Given the description of an element on the screen output the (x, y) to click on. 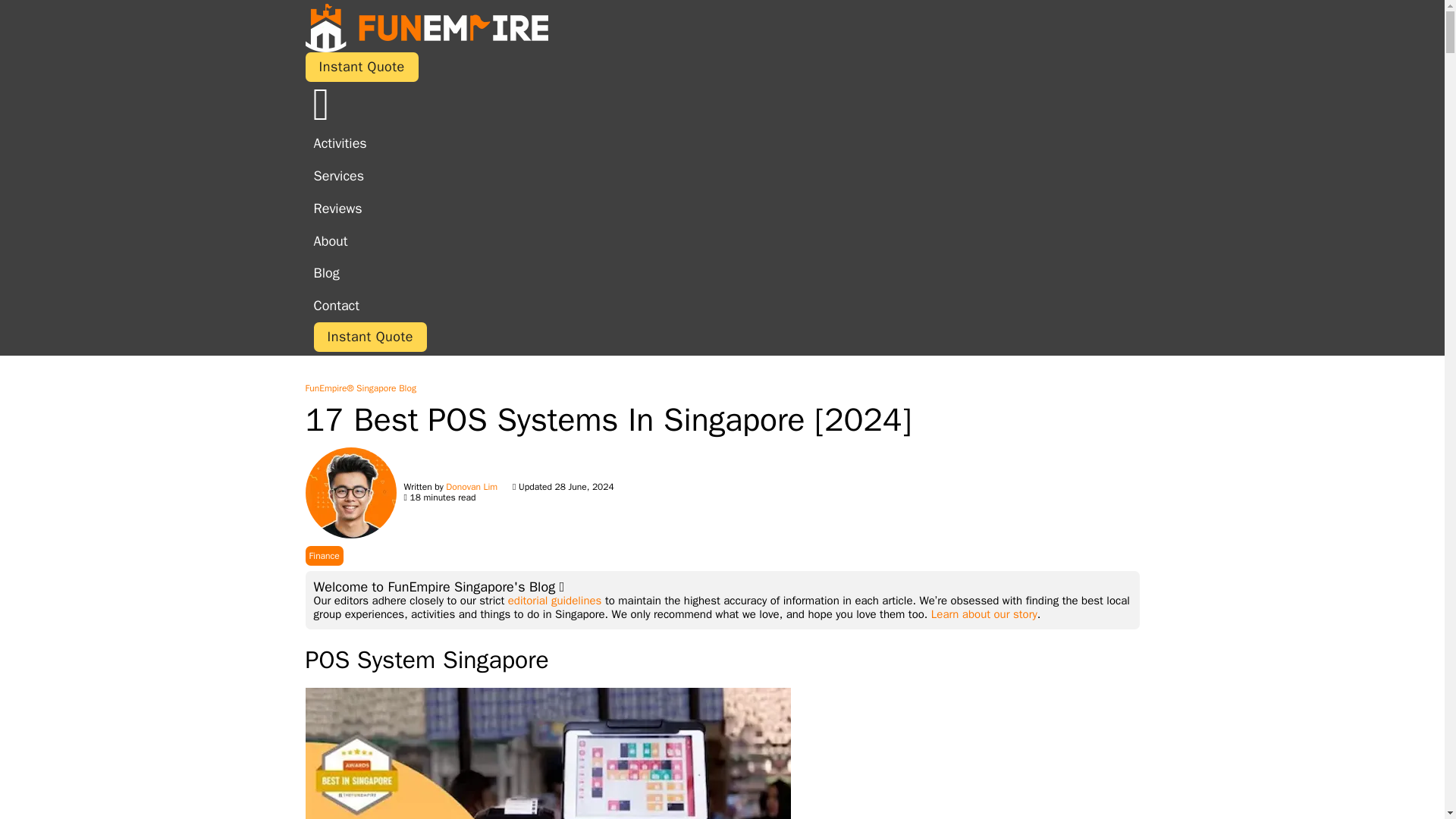
Instant Quote (360, 66)
